Given the description of an element on the screen output the (x, y) to click on. 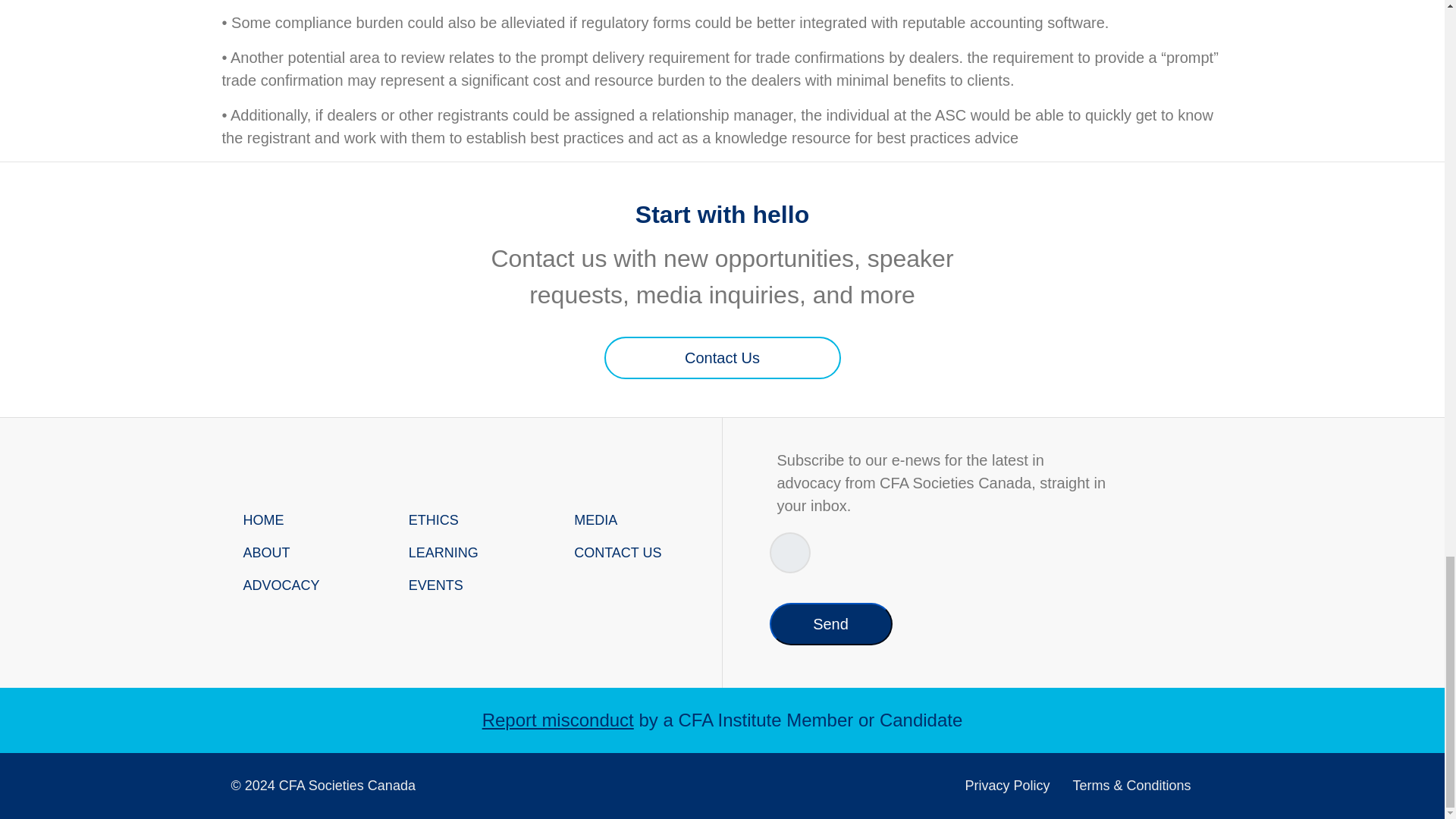
ETHICS (471, 520)
MEDIA (636, 520)
Send (829, 623)
ABOUT (305, 553)
Privacy Policy (1006, 786)
CONTACT US (636, 553)
Contact Us (722, 357)
Send (829, 623)
ADVOCACY (305, 585)
HOME (305, 520)
LEARNING (471, 553)
Report misconduct (557, 720)
EVENTS (471, 585)
